Given the description of an element on the screen output the (x, y) to click on. 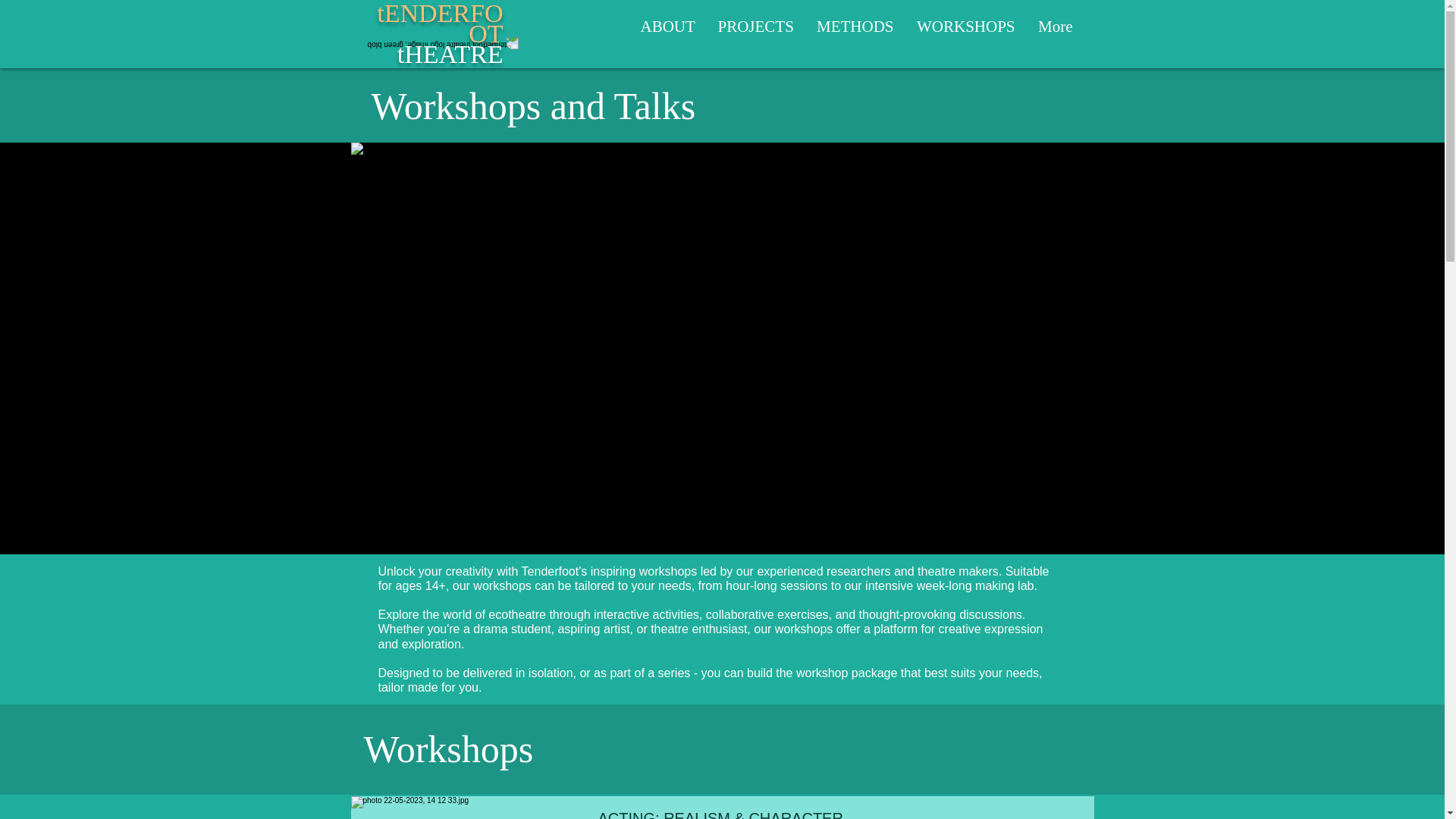
PROJECTS (755, 27)
ABOUT (439, 33)
METHODS (667, 27)
WORKSHOPS (855, 27)
